Given the description of an element on the screen output the (x, y) to click on. 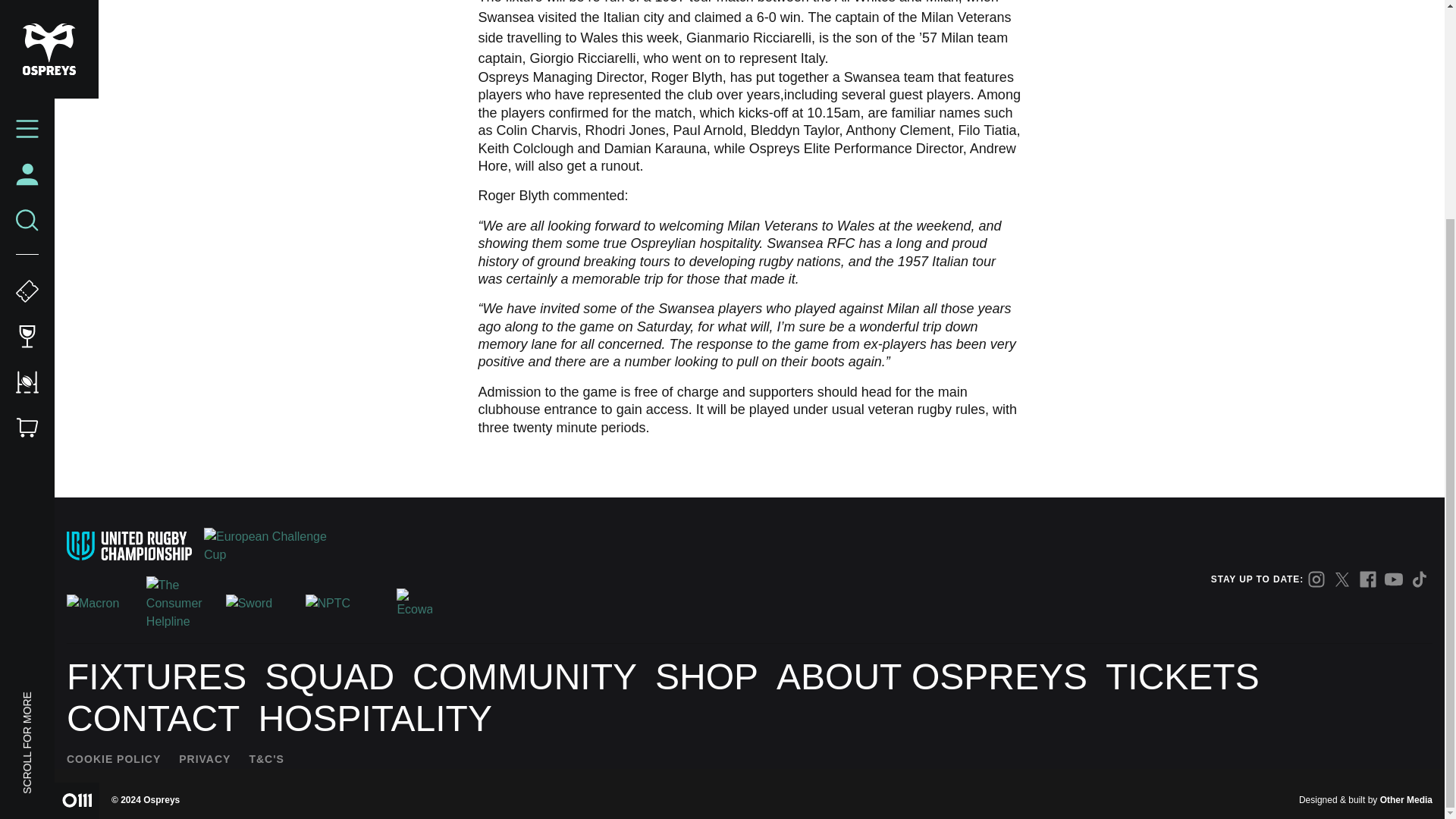
Facebook (1367, 579)
Macron (99, 603)
The Consumer Helpline (180, 603)
Ecowatt (414, 603)
YouTube (1393, 579)
NPTC (338, 603)
TikTok (1419, 579)
European Challenge Cup (266, 545)
Sword (259, 603)
Instagram (1315, 579)
